Given the description of an element on the screen output the (x, y) to click on. 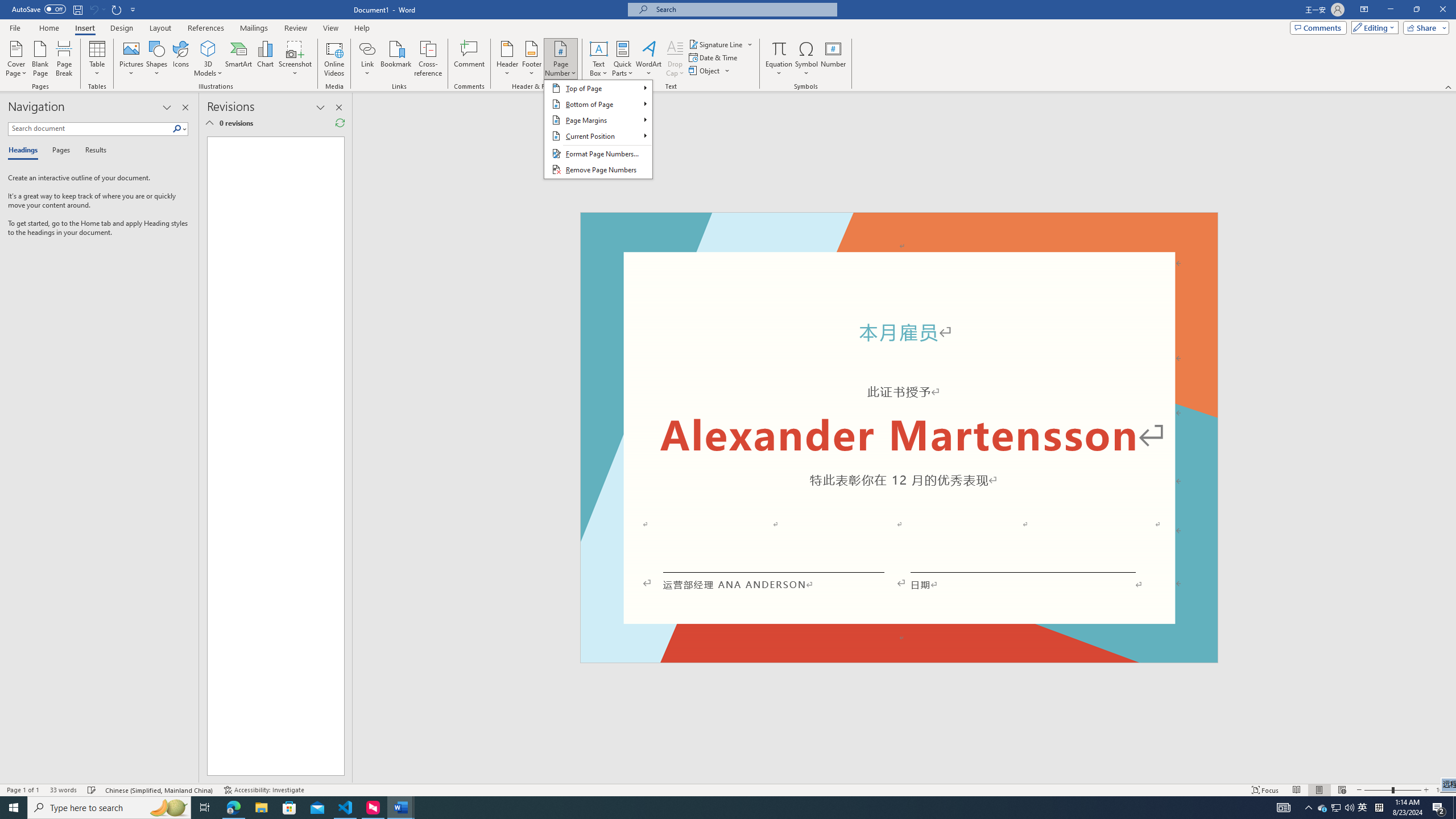
Signature Line (716, 44)
Microsoft Edge - 1 running window (233, 807)
Blank Page (40, 58)
Running applications (700, 807)
Start (13, 807)
Page Number (560, 58)
Drop Cap (674, 58)
Action Center, 2 new notifications (1439, 807)
